Given the description of an element on the screen output the (x, y) to click on. 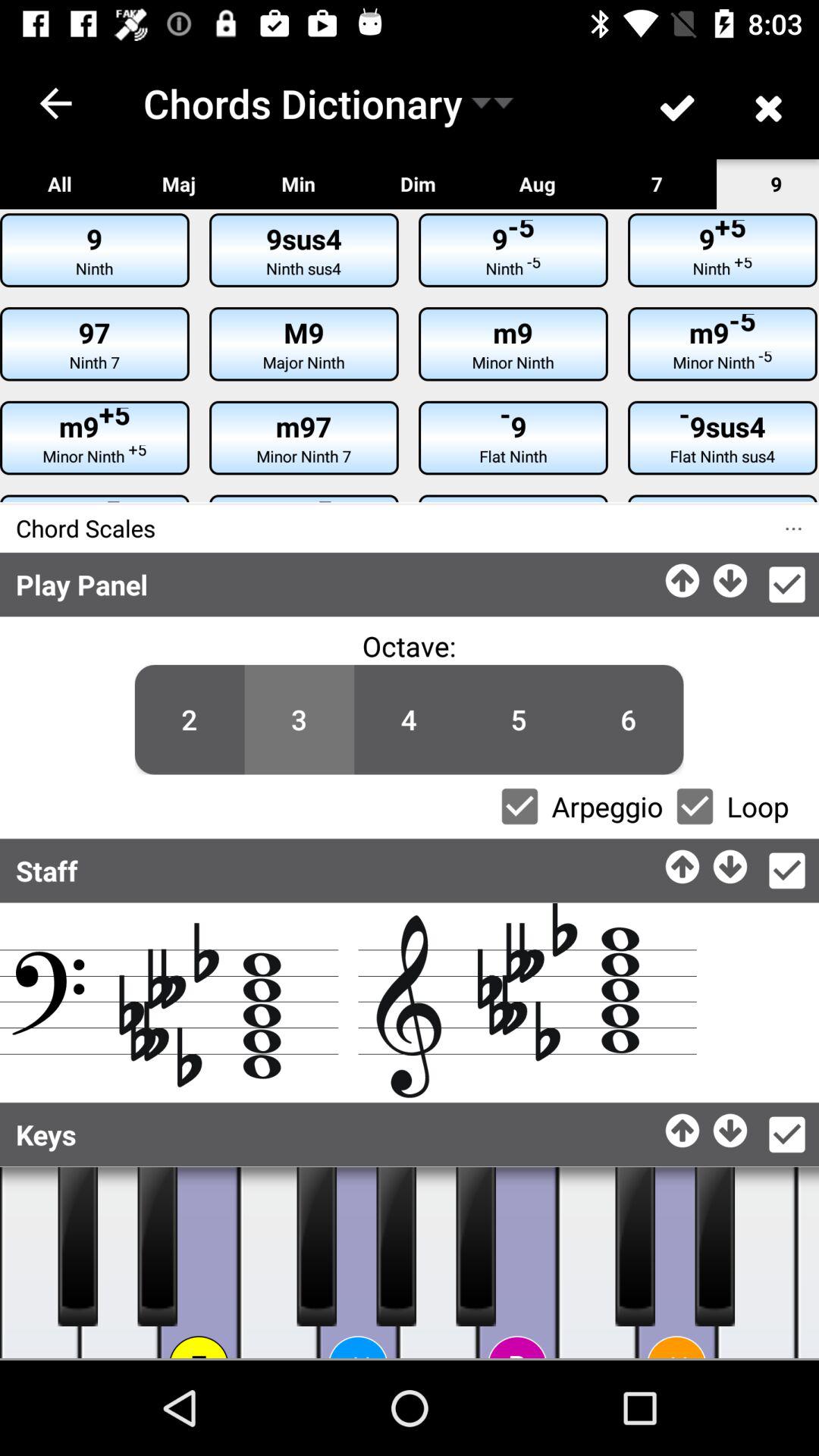
piano keys (635, 1246)
